Given the description of an element on the screen output the (x, y) to click on. 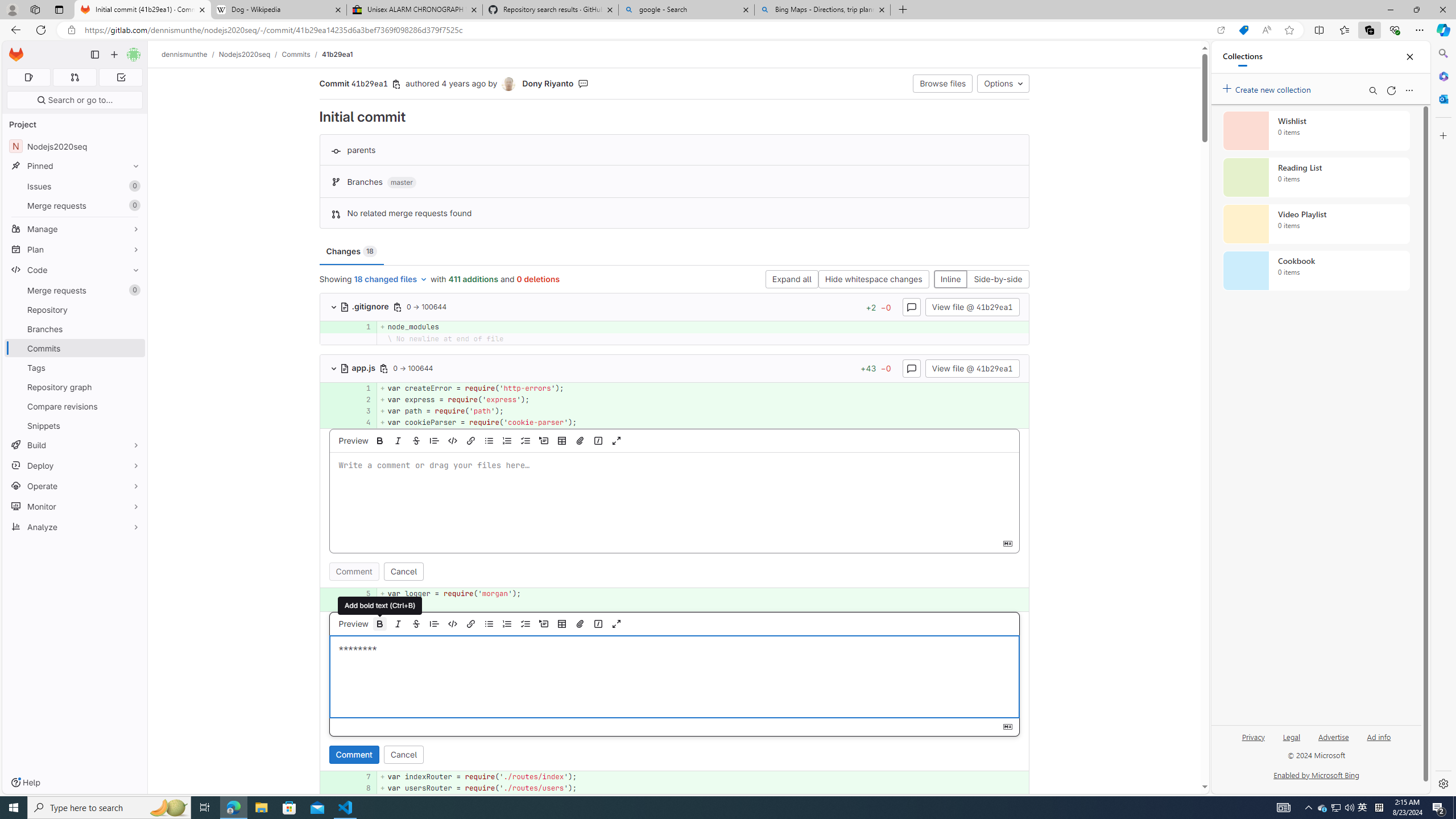
Restore (1416, 9)
Unpin Issues (132, 186)
Refresh (1390, 90)
Options (1002, 83)
Go full screen (616, 623)
AutomationID: 4a68969ef8e858229267b842dedf42ab5dde4d50_0_6 (674, 605)
Open in app (1220, 29)
1 (362, 387)
Plan (74, 248)
Repository graph (74, 386)
Repository graph (74, 386)
Tab actions menu (58, 9)
Merge requests 0 (74, 289)
Issues 0 (74, 185)
Ad info (1378, 736)
